Given the description of an element on the screen output the (x, y) to click on. 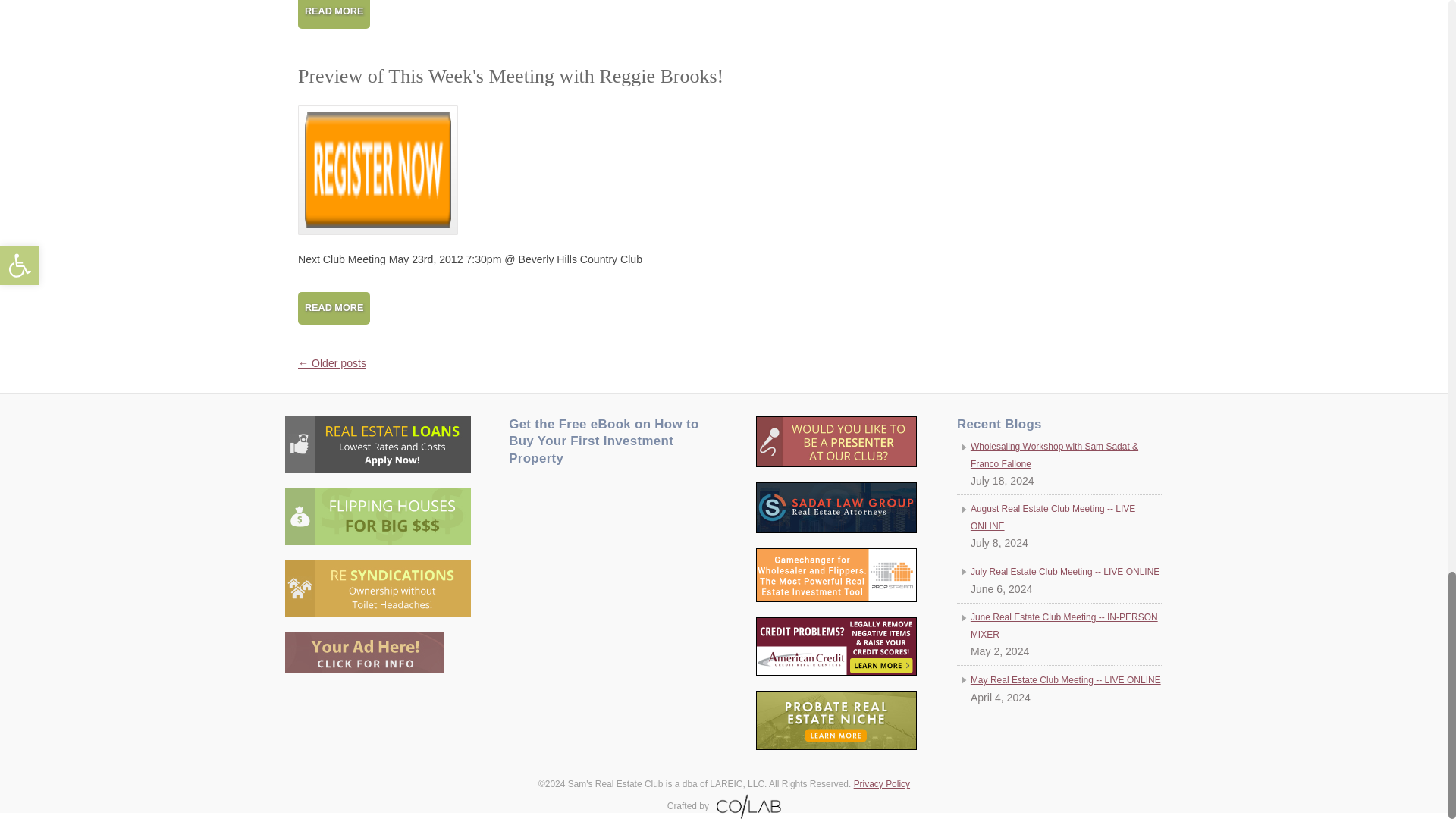
American Credit (836, 646)
